Given the description of an element on the screen output the (x, y) to click on. 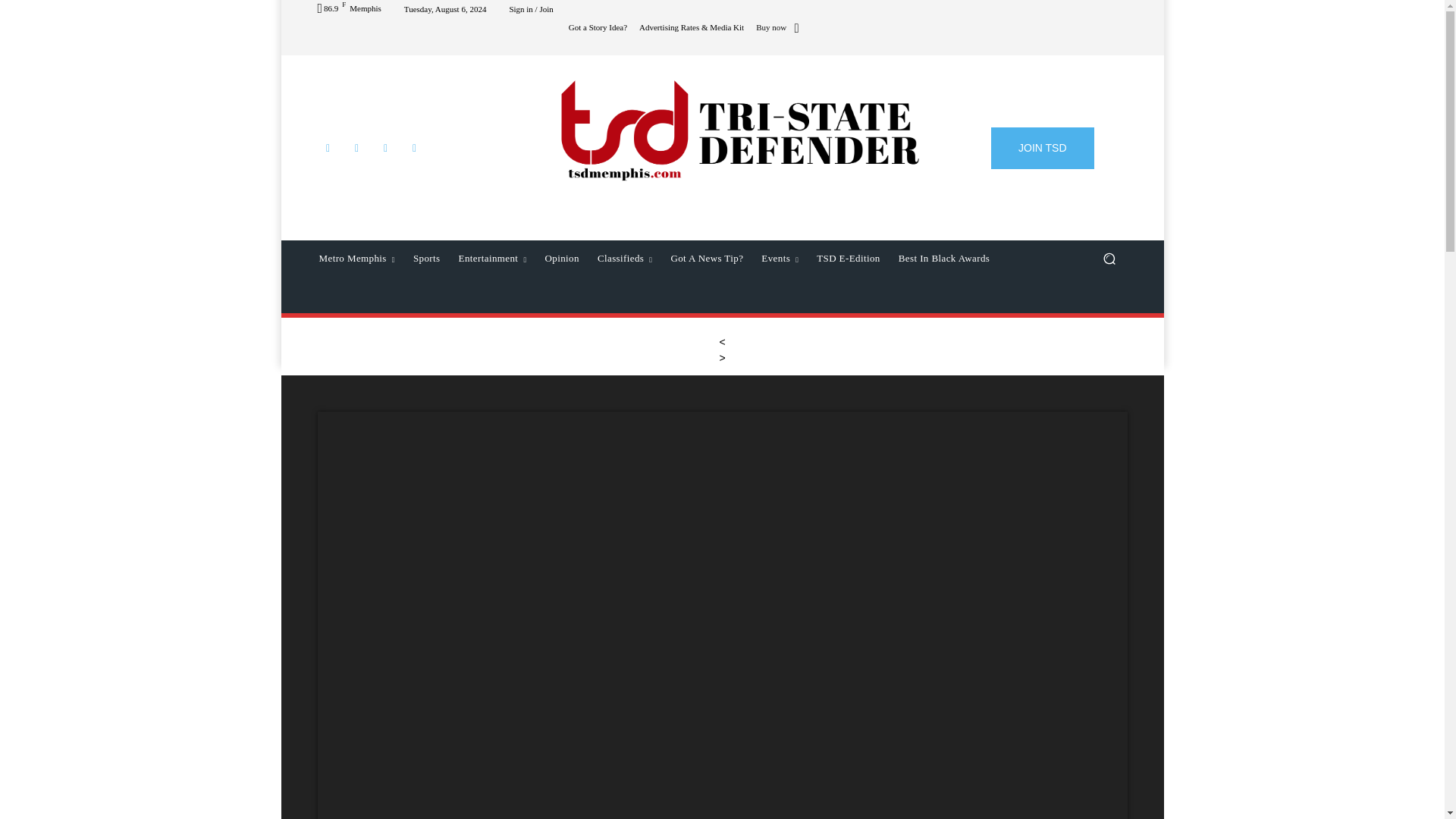
Best In Black Awards (943, 258)
JOIN TSD (1042, 147)
Got a Story Idea? (598, 27)
Twitter (385, 147)
Entertainment (492, 258)
Facebook (327, 147)
Join TSD (1042, 147)
Events (780, 258)
Metro Memphis (355, 258)
The Tr-State Defender (738, 129)
